Given the description of an element on the screen output the (x, y) to click on. 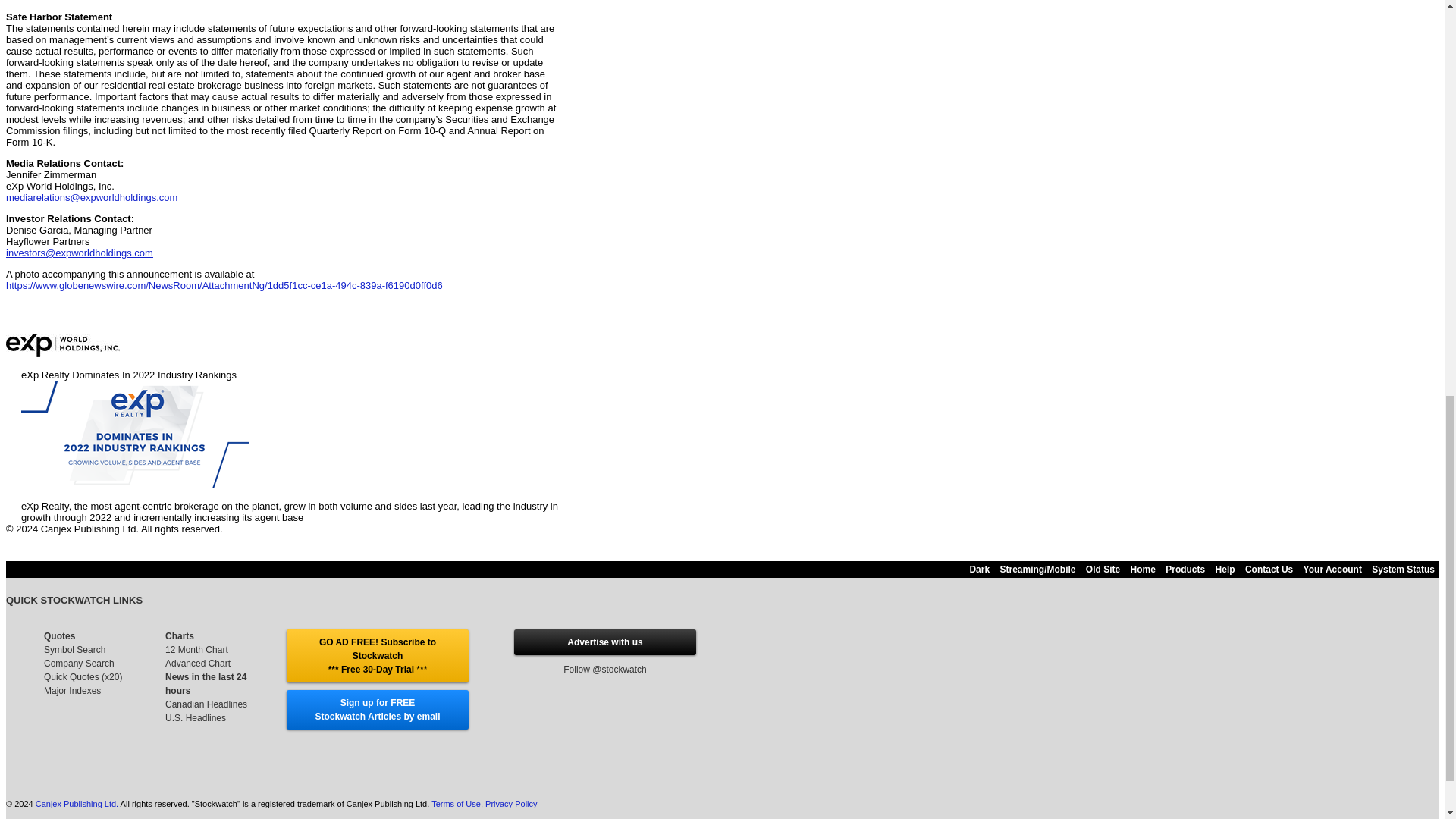
Start with a FREE 30 day trial (376, 655)
Reach Interested and Active Investors (604, 642)
